Given the description of an element on the screen output the (x, y) to click on. 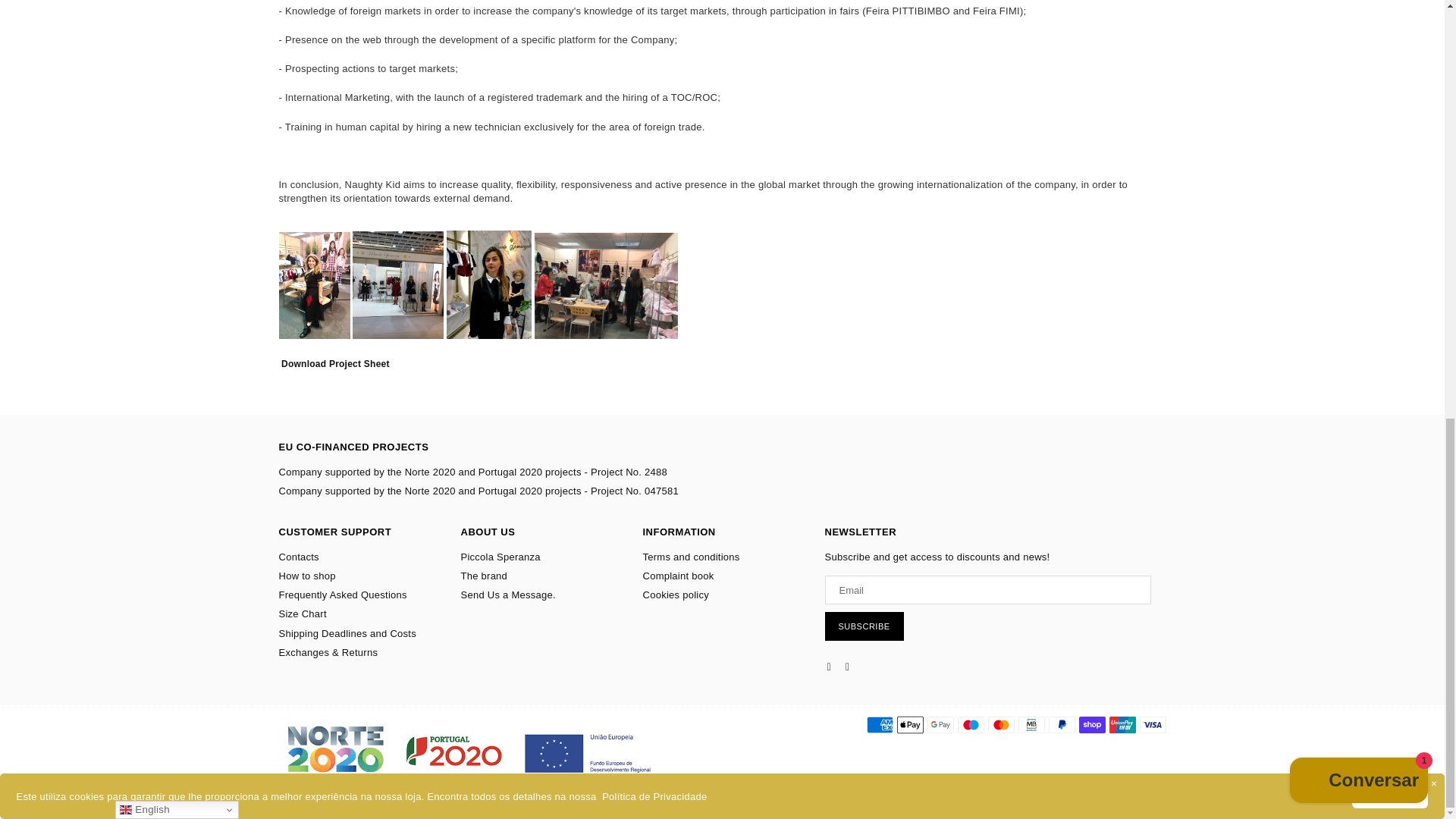
ATM (1030, 724)
Mastercard (1000, 724)
Visa (1152, 724)
American Express (879, 724)
PayPal (1061, 724)
Shop pay (1091, 724)
Apple Pay (909, 724)
Google Pay (939, 724)
Teacher (970, 724)
Union Pay (1121, 724)
